Given the description of an element on the screen output the (x, y) to click on. 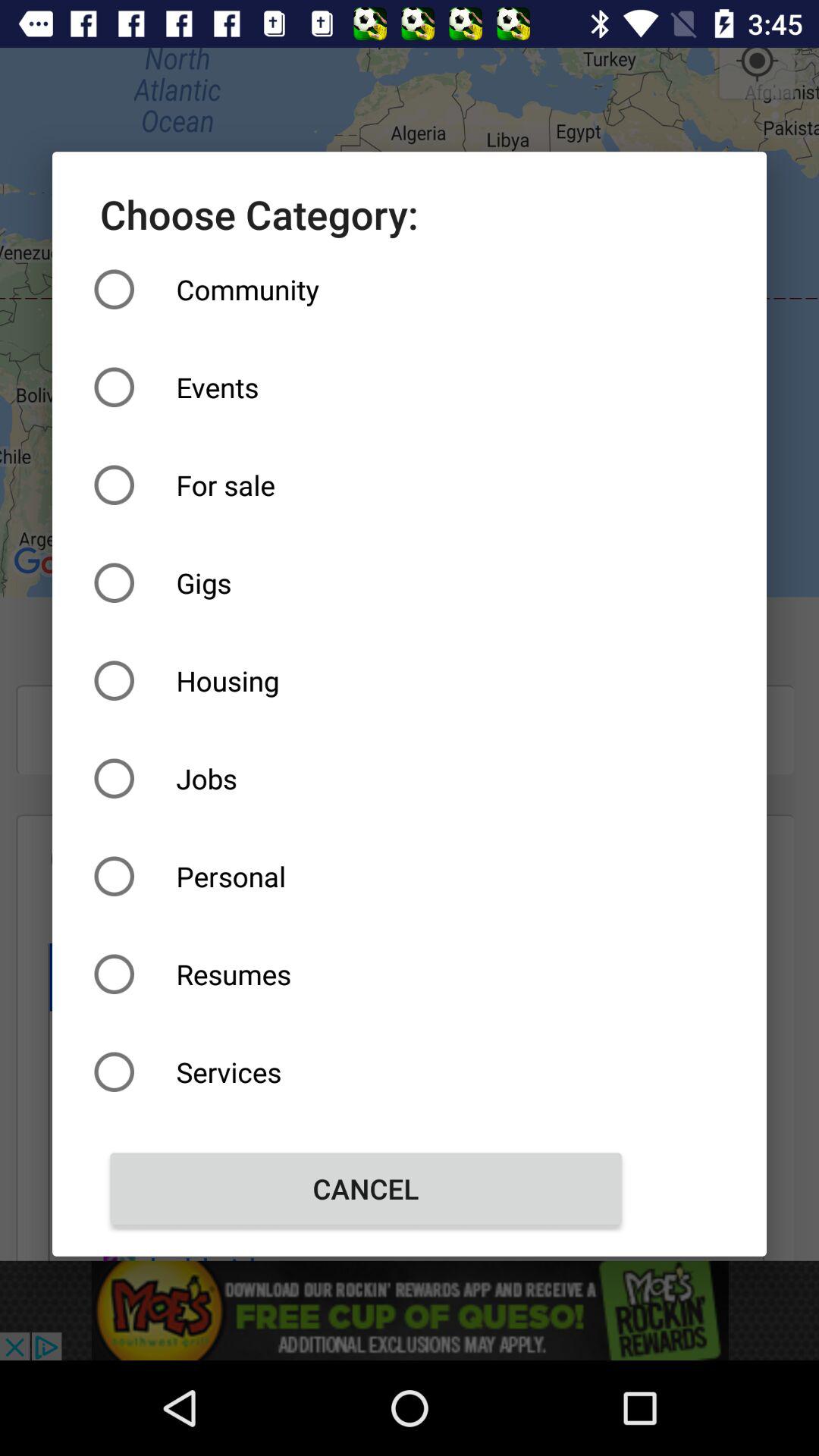
select the item below events (365, 485)
